Given the description of an element on the screen output the (x, y) to click on. 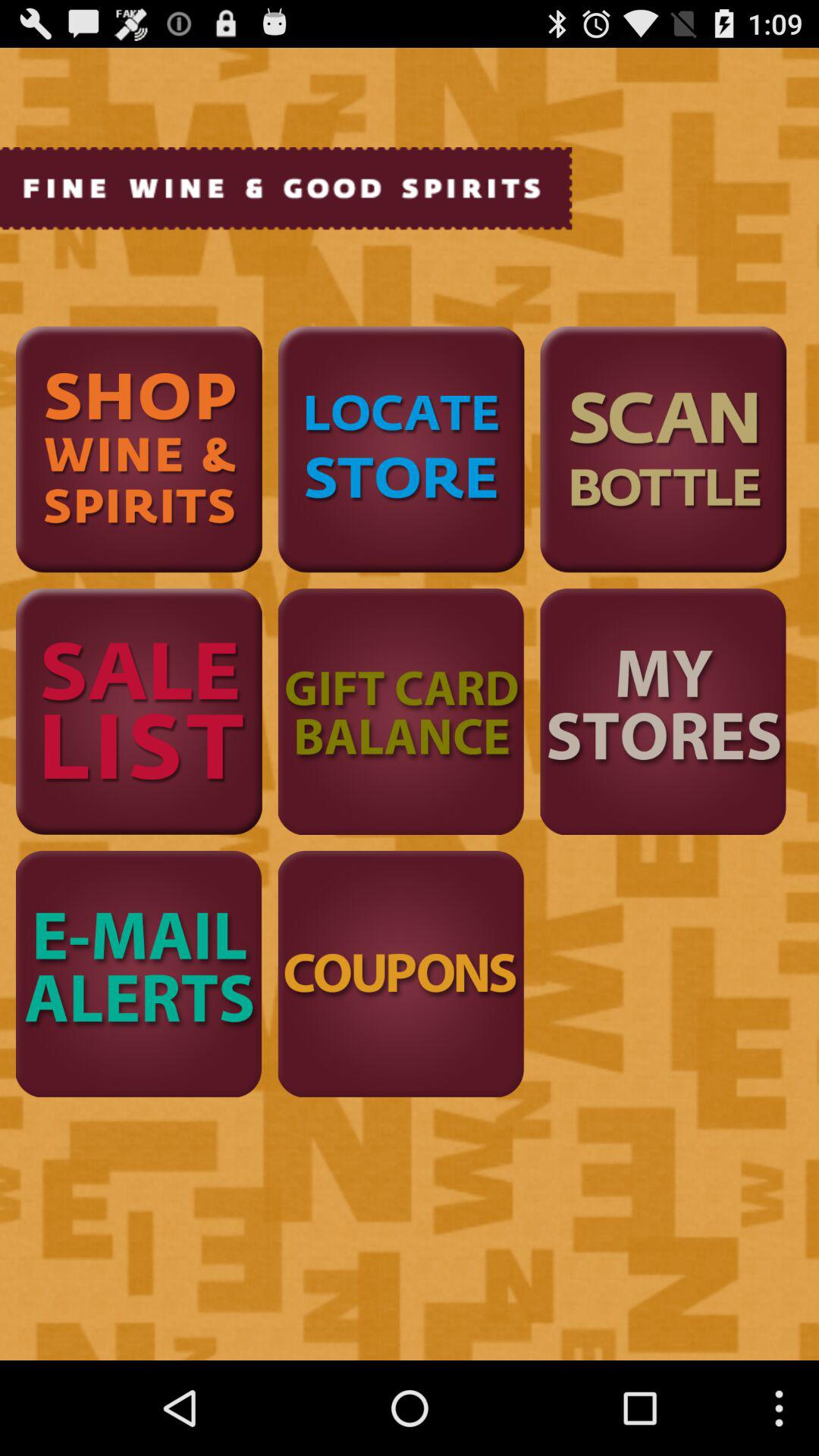
gift card balance option (401, 711)
